Given the description of an element on the screen output the (x, y) to click on. 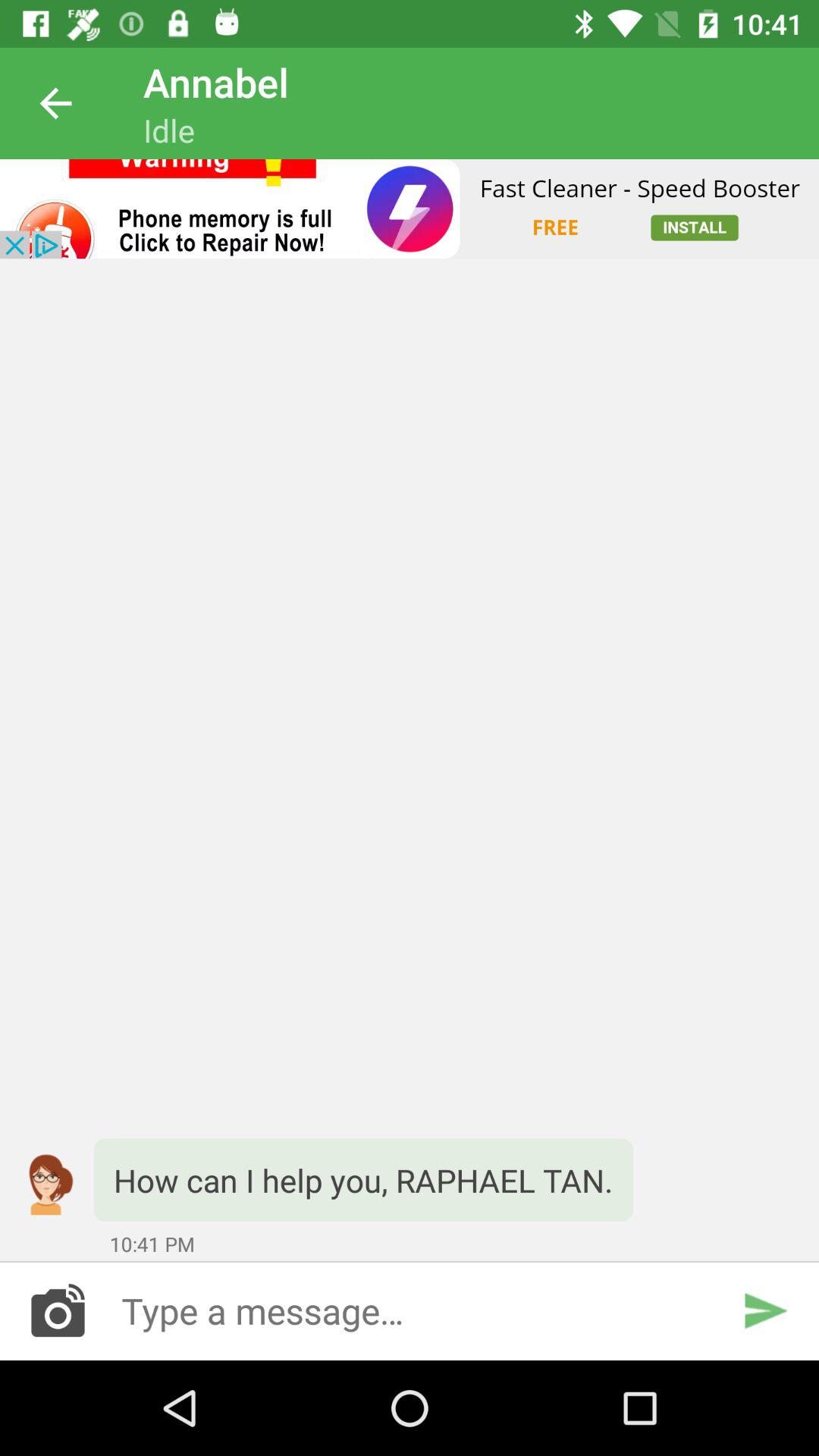
to take photo (57, 1310)
